Given the description of an element on the screen output the (x, y) to click on. 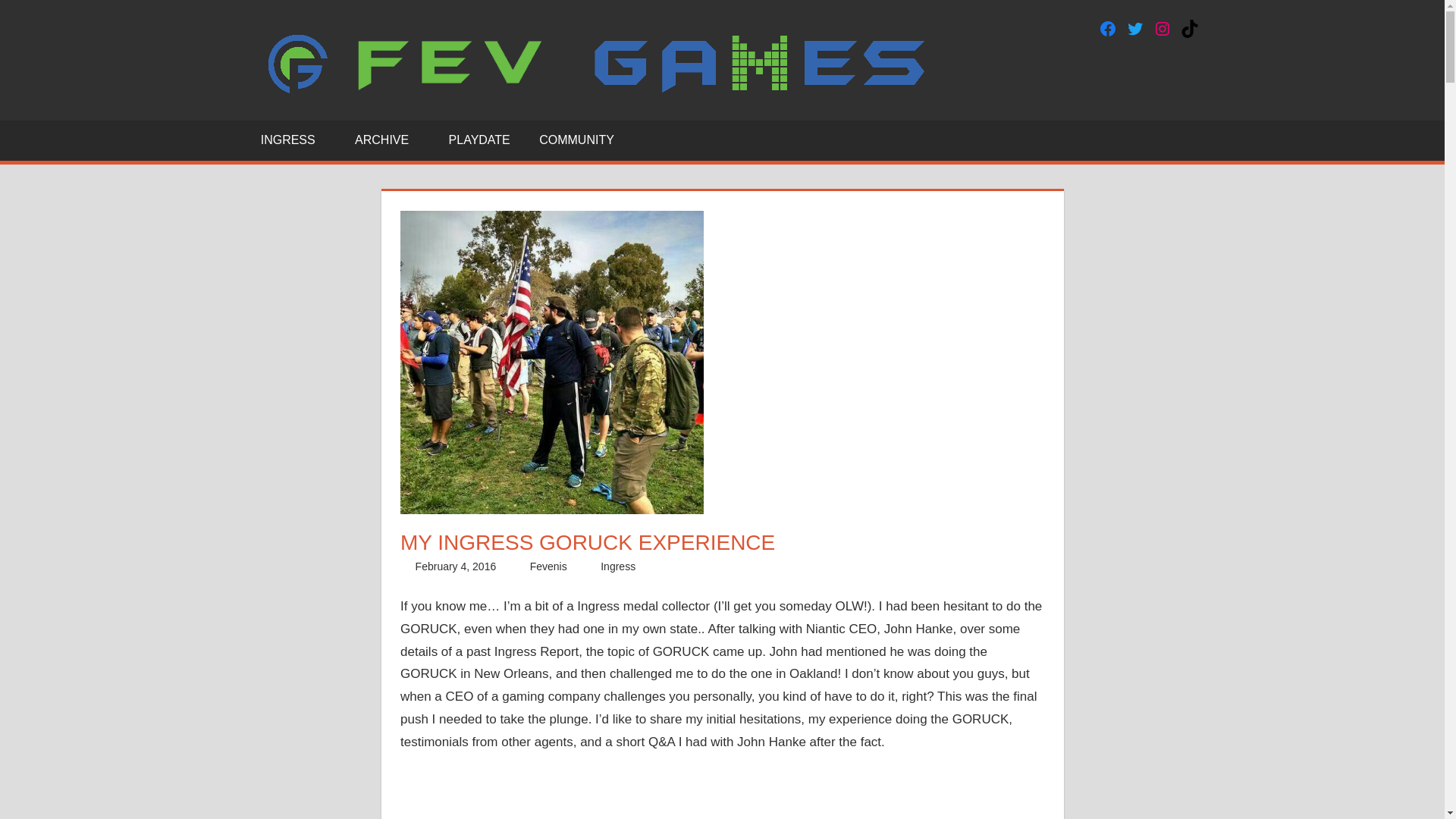
TikTok (1188, 28)
Instagram (1161, 28)
Twitter (1133, 28)
6:46 pm (455, 566)
Facebook (1106, 28)
INGRESS (292, 139)
ARCHIVE (386, 139)
View all posts by Fevenis (548, 566)
